Given the description of an element on the screen output the (x, y) to click on. 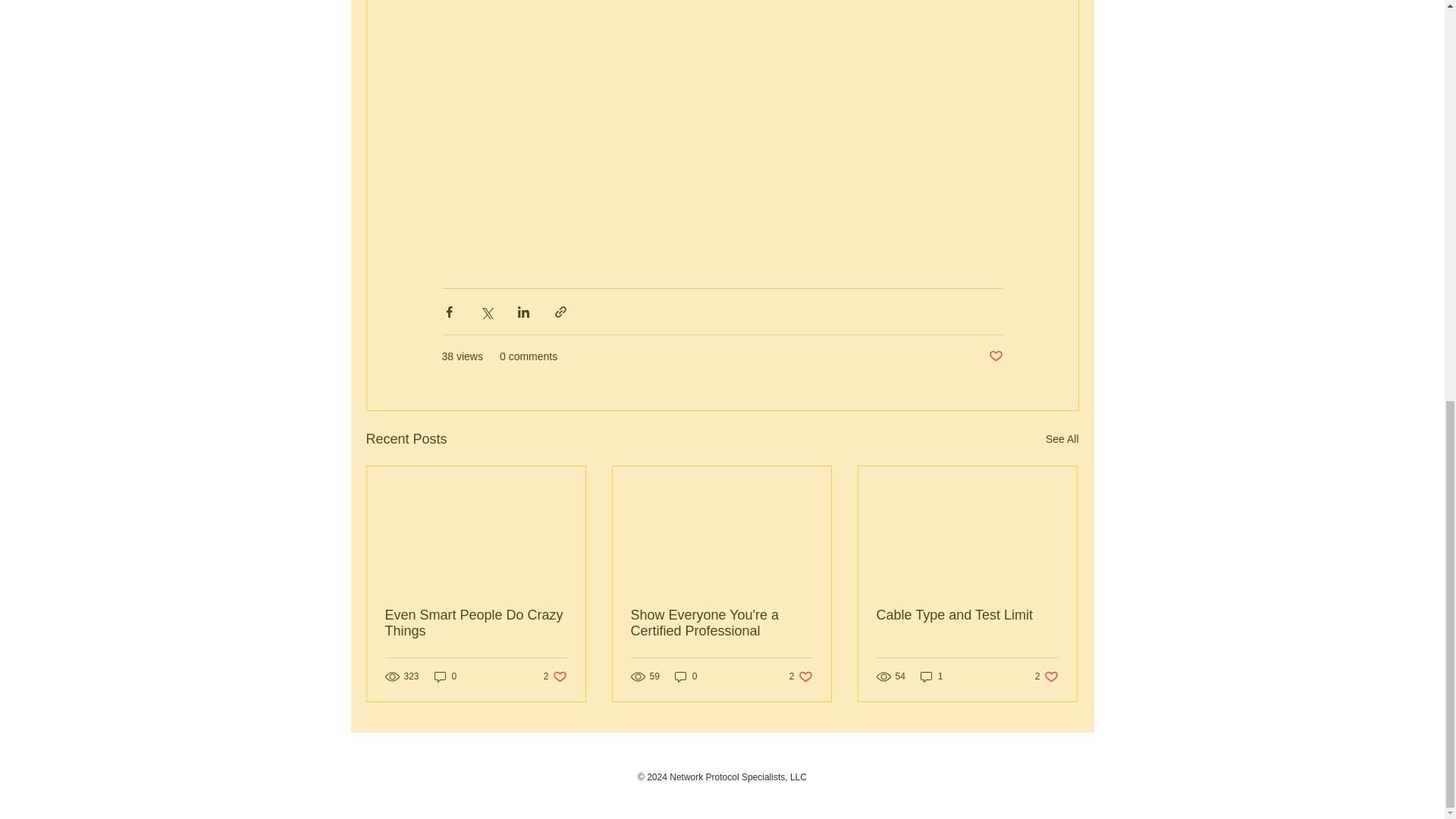
See All (1061, 439)
Even Smart People Do Crazy Things (476, 623)
0 (685, 676)
Post not marked as liked (995, 356)
Cable Type and Test Limit (800, 676)
0 (967, 615)
Show Everyone You're a Certified Professional (445, 676)
